Given the description of an element on the screen output the (x, y) to click on. 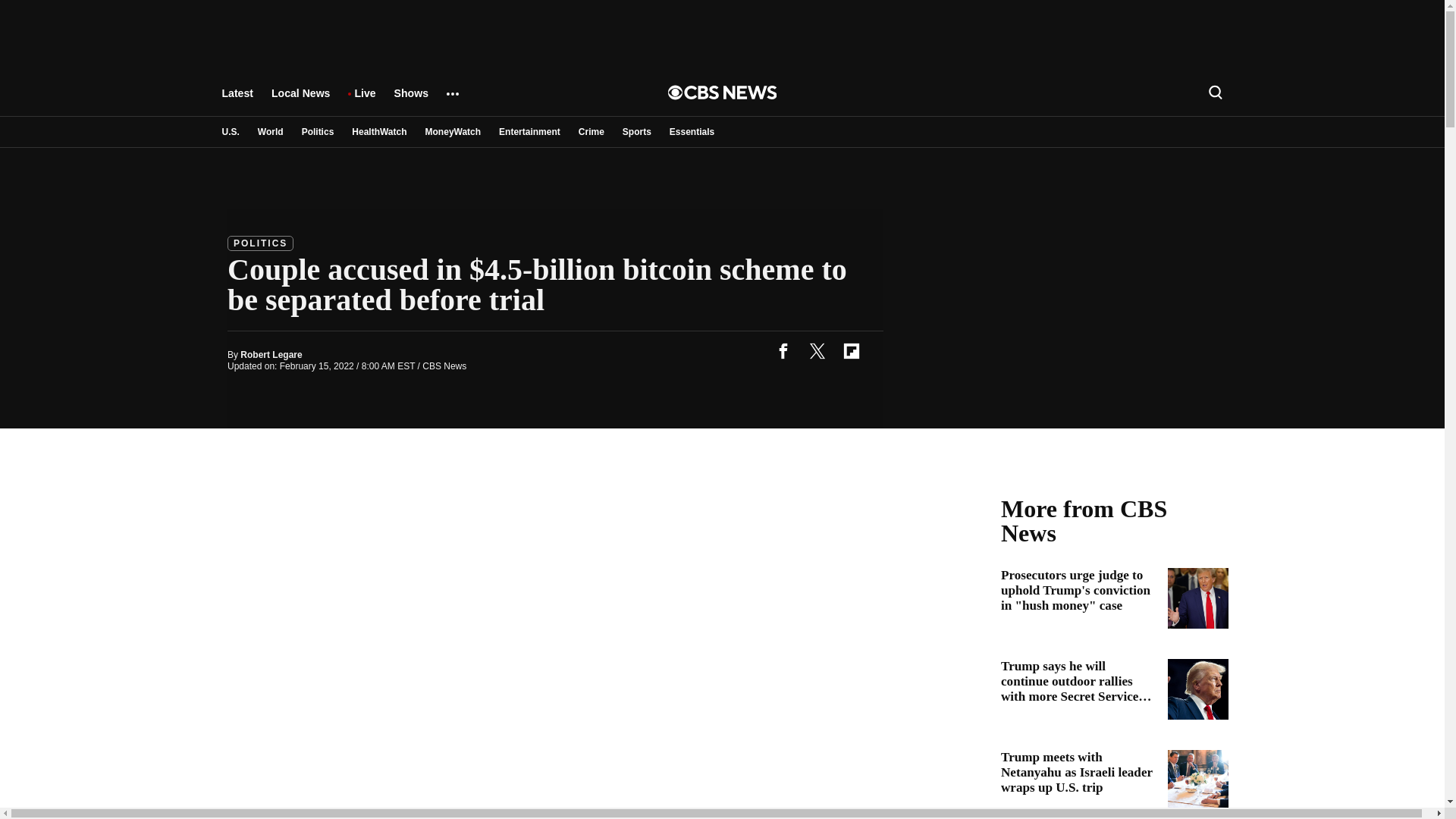
facebook (782, 350)
twitter (816, 350)
Latest (236, 100)
Local News (300, 100)
flipboard (850, 350)
